Given the description of an element on the screen output the (x, y) to click on. 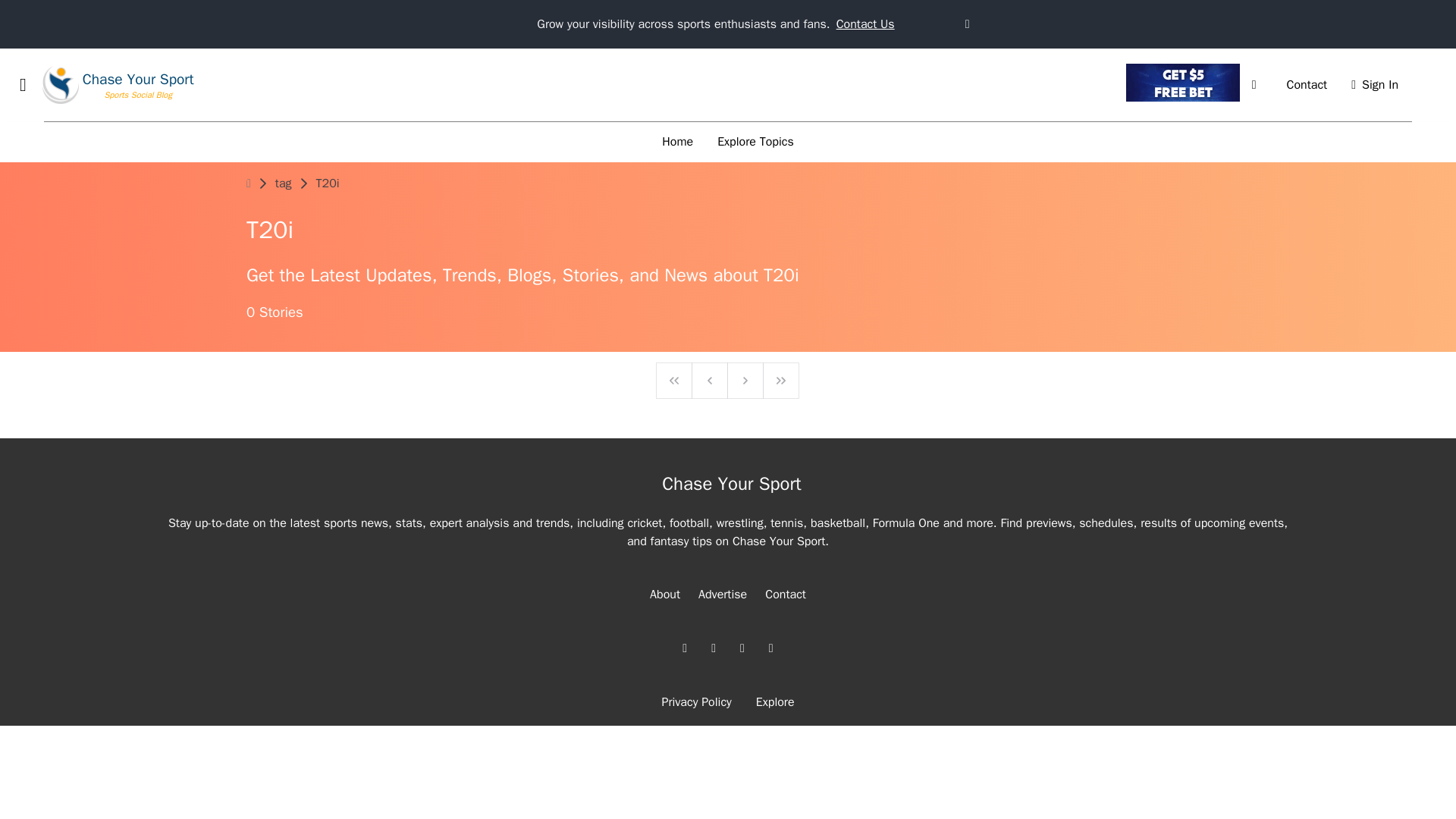
Advertise (722, 594)
tag (283, 183)
T20i (327, 183)
About (664, 594)
Contact Us (865, 24)
Sign In (1374, 84)
Explore Topics (755, 141)
Privacy Policy (695, 702)
Contact (1307, 84)
Explore (774, 702)
